Given the description of an element on the screen output the (x, y) to click on. 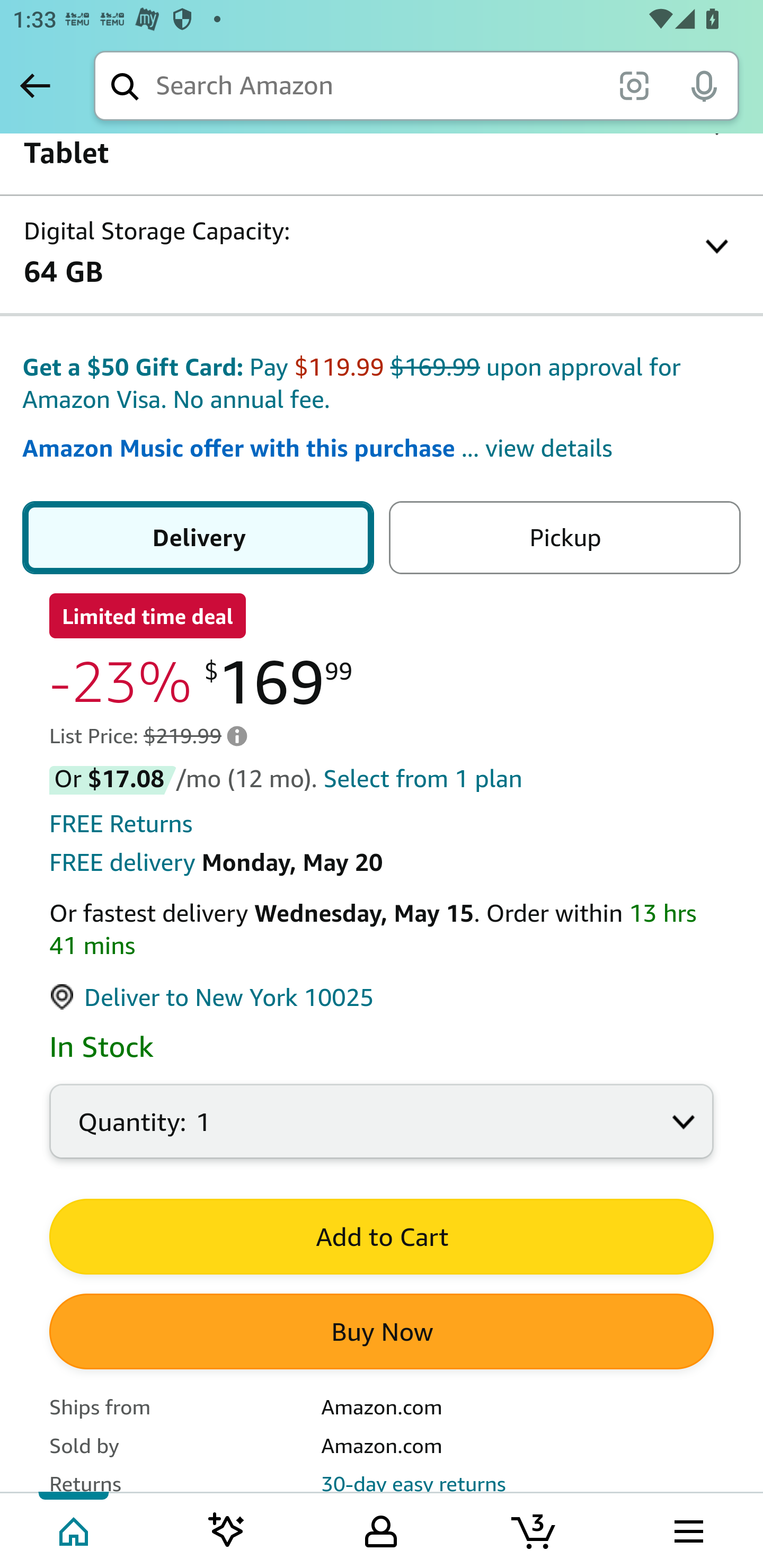
Back (35, 85)
scan it (633, 85)
Delivery (198, 538)
Pickup (564, 538)
Learn more about Amazon pricing and savings (236, 736)
Select from 1 plan (422, 779)
FREE Returns (121, 824)
FREE delivery (122, 863)
Deliver to New York 10025‌ (212, 998)
1 (381, 1131)
Add to Cart (381, 1237)
Buy Now (381, 1332)
Home Tab 1 of 5 (75, 1529)
Inspire feed Tab 2 of 5 (227, 1529)
Your Amazon.com Tab 3 of 5 (380, 1529)
Cart 3 items Tab 4 of 5 3 (534, 1529)
Browse menu Tab 5 of 5 (687, 1529)
